Given the description of an element on the screen output the (x, y) to click on. 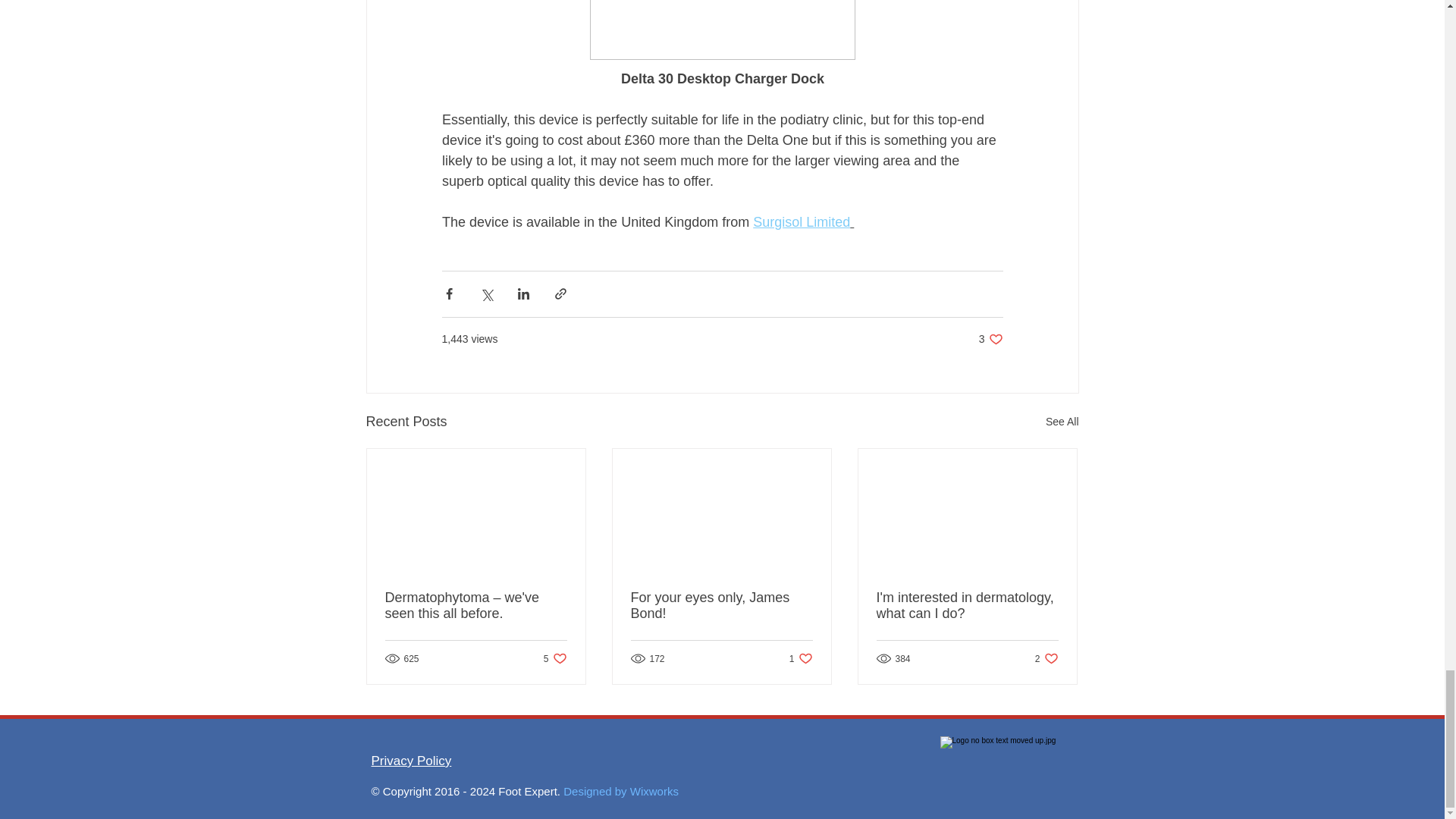
For your eyes only, James Bond! (1046, 658)
See All (990, 339)
I'm interested in dermatology, what can I do? (800, 658)
Designed by Wixworks (721, 605)
Surgisol Limited (555, 658)
Privacy Policy (1061, 422)
